Given the description of an element on the screen output the (x, y) to click on. 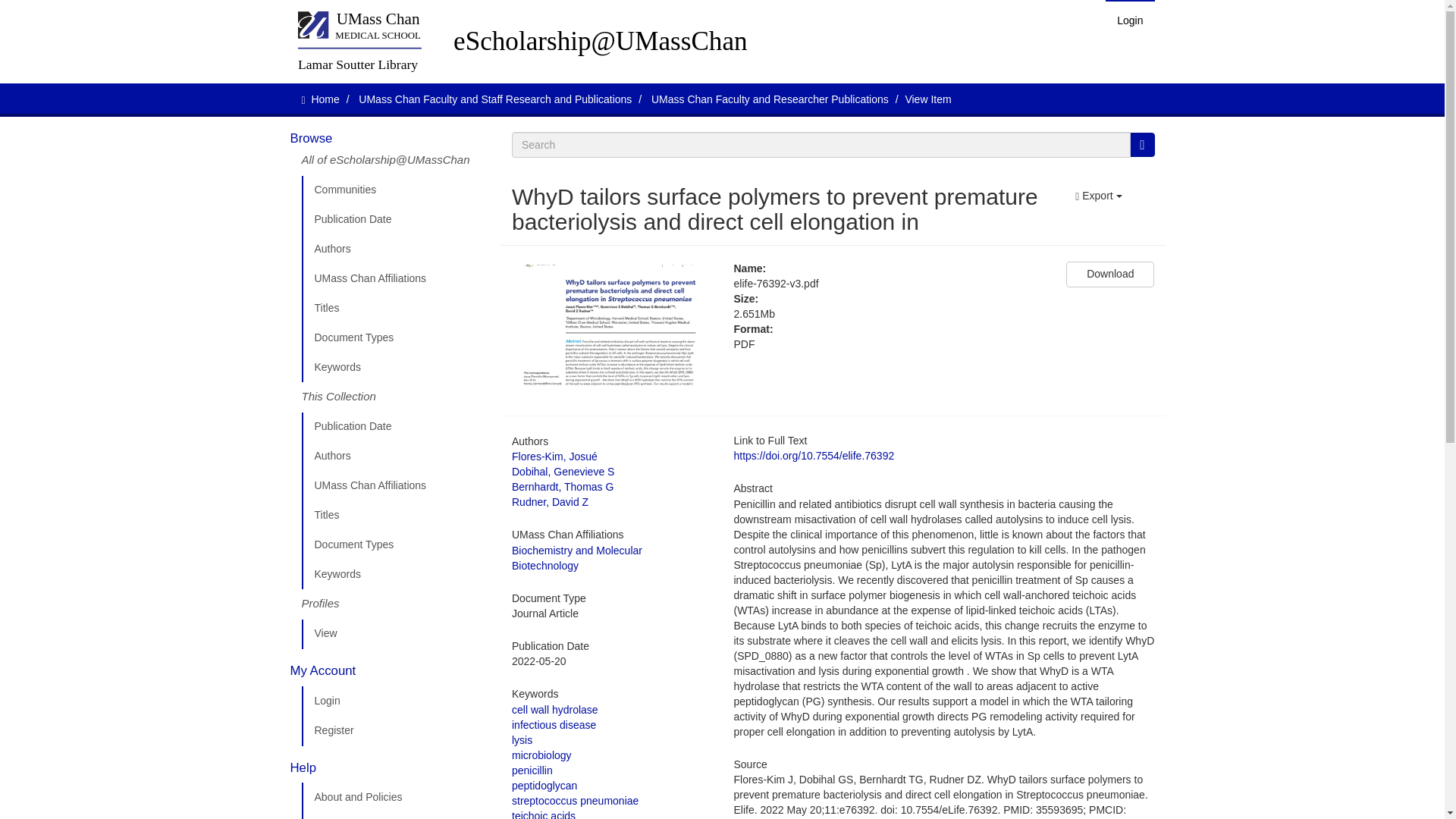
Titles (395, 515)
View (395, 634)
Keywords (395, 574)
Keywords (395, 367)
Titles (395, 308)
UMass Chan Affiliations (395, 278)
Profiles (395, 603)
UMass Chan Faculty and Staff Research and Publications (494, 99)
Authors (395, 249)
Publication Date (395, 426)
UMass Chan Faculty and Researcher Publications (769, 99)
Publication Date (395, 219)
Authors (395, 456)
elife-76392-v3.pdf (888, 283)
Document Types (395, 544)
